Given the description of an element on the screen output the (x, y) to click on. 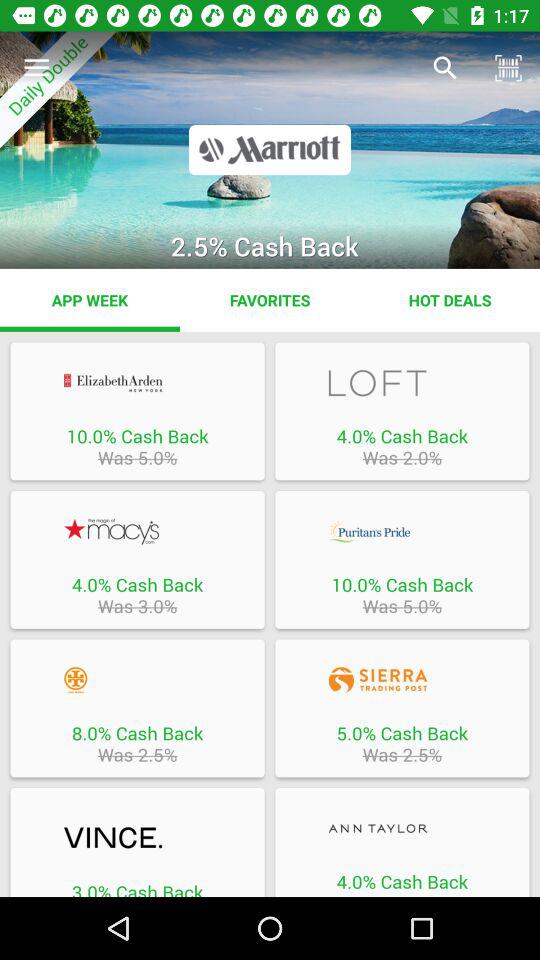
view this deal (137, 679)
